Given the description of an element on the screen output the (x, y) to click on. 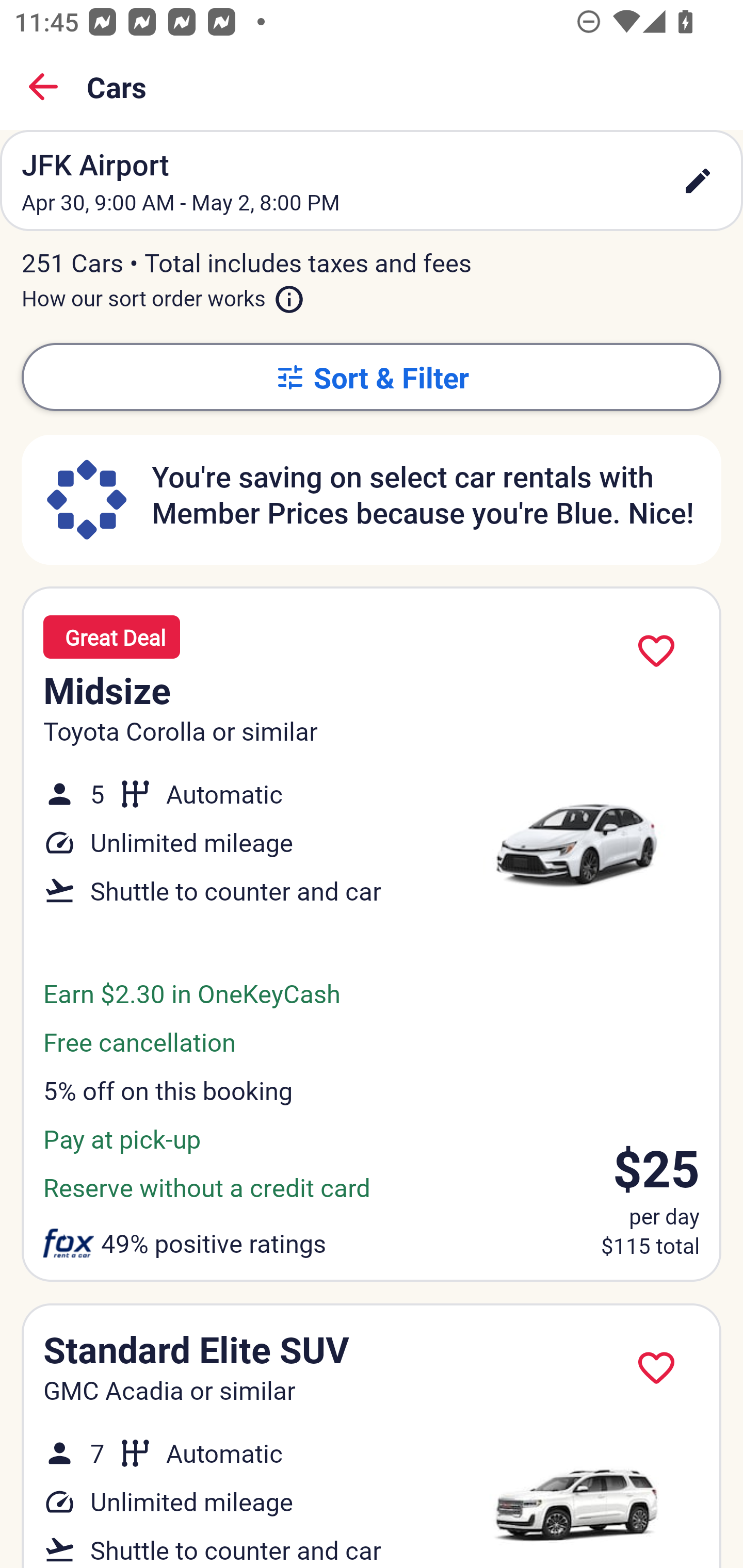
Back (43, 86)
edit (697, 180)
How our sort order works (163, 294)
Sort & Filter (371, 376)
